Given the description of an element on the screen output the (x, y) to click on. 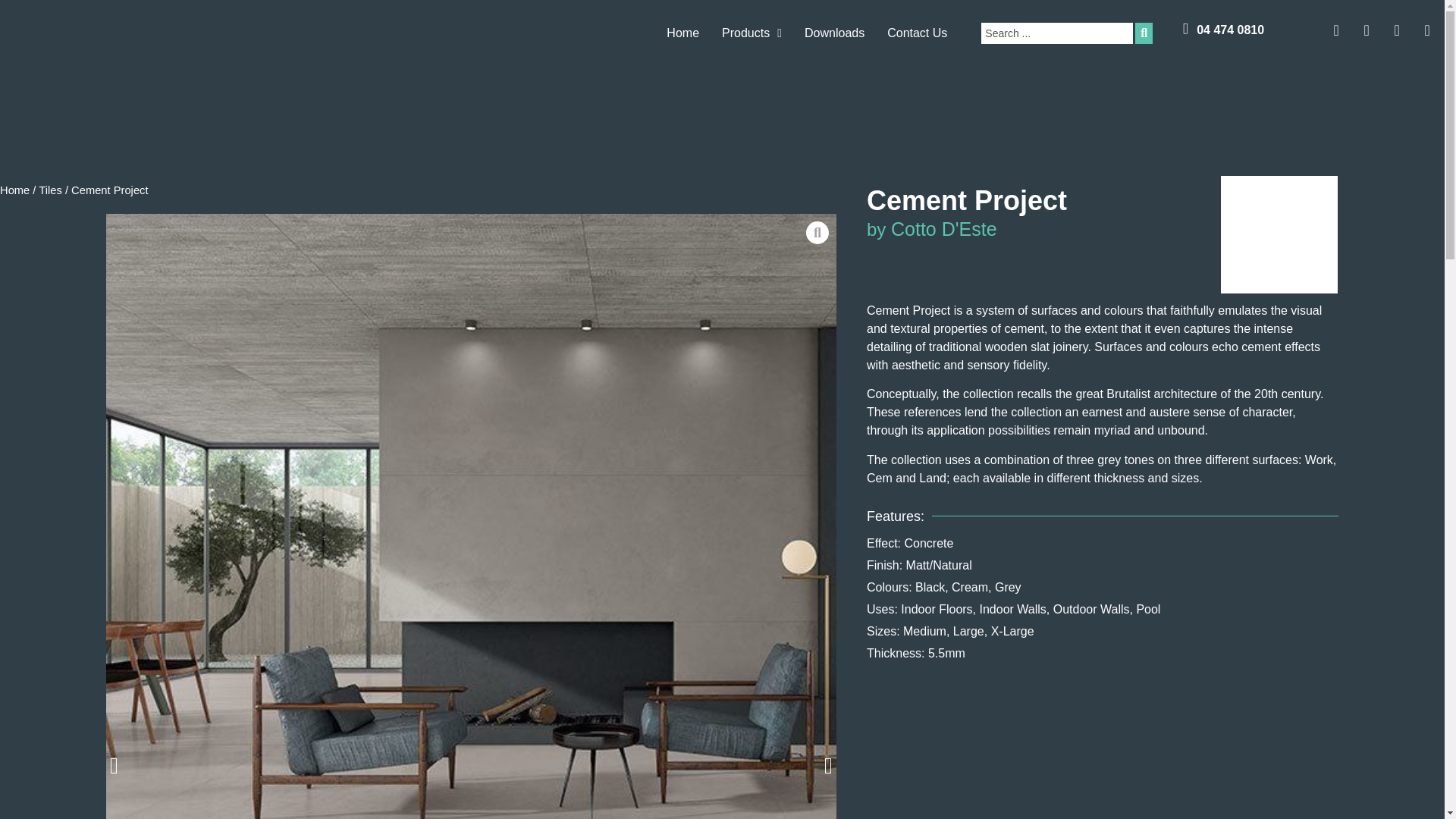
Downloads (834, 33)
Products (751, 33)
Tiles (50, 190)
Home (682, 33)
Home (682, 33)
Home (14, 190)
Contact Us (917, 33)
Contact Us (917, 33)
Downloads (834, 33)
04 474 0810 (1229, 29)
Products (751, 33)
